Given the description of an element on the screen output the (x, y) to click on. 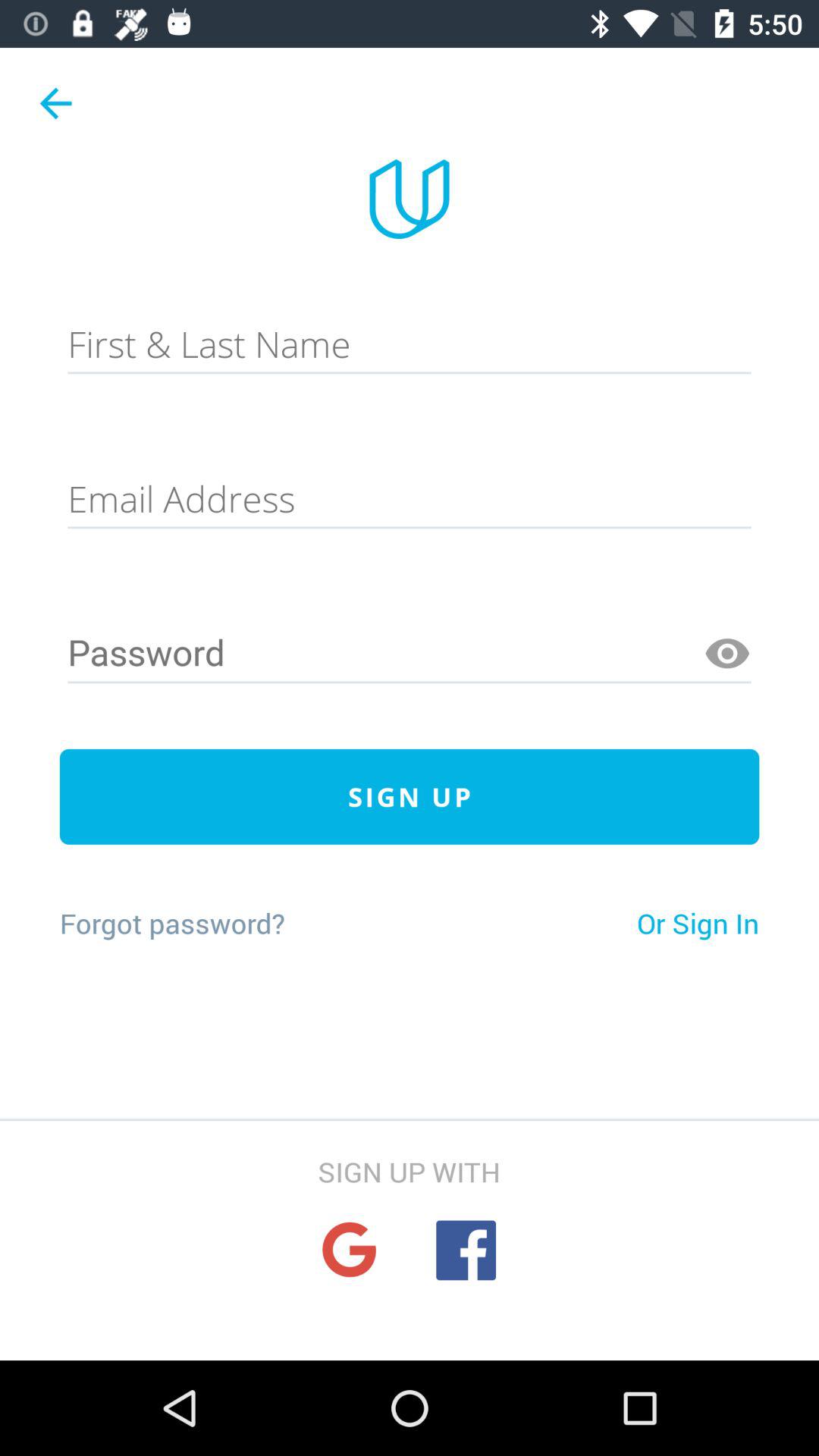
facebook sign up (465, 1250)
